Given the description of an element on the screen output the (x, y) to click on. 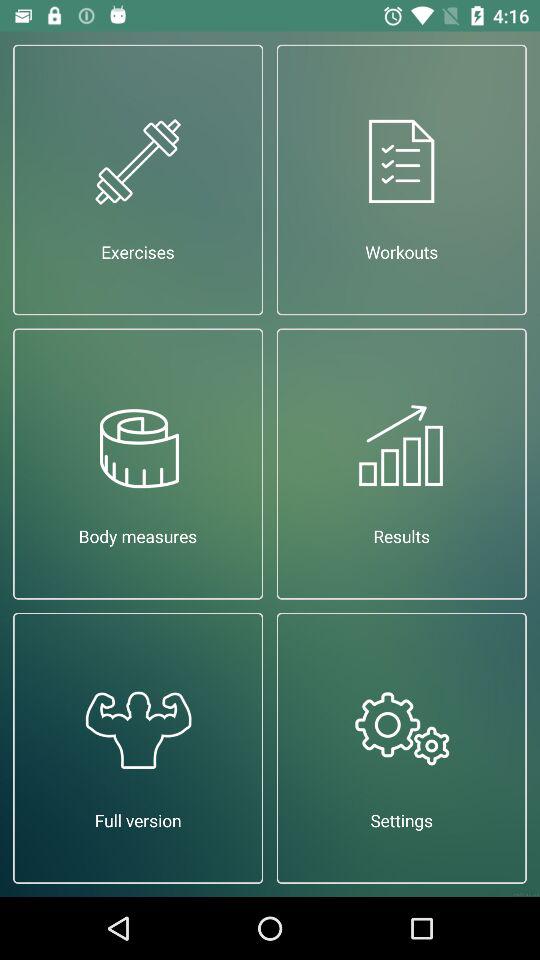
choose item above the results (401, 179)
